Given the description of an element on the screen output the (x, y) to click on. 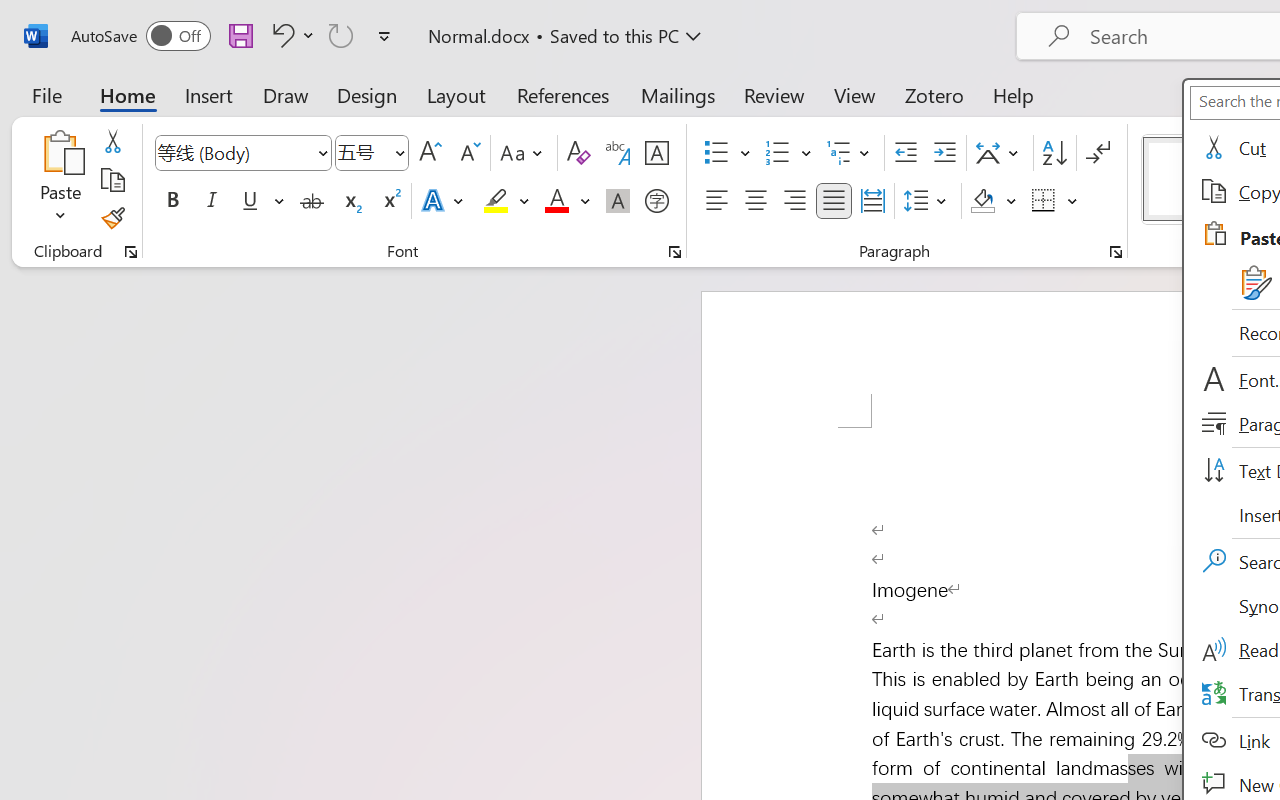
Character Shading (618, 201)
Undo Paste Text Only (290, 35)
Align Right (794, 201)
Paragraph... (1115, 252)
Asian Layout (1000, 153)
Italic (212, 201)
Clear Formatting (578, 153)
